Given the description of an element on the screen output the (x, y) to click on. 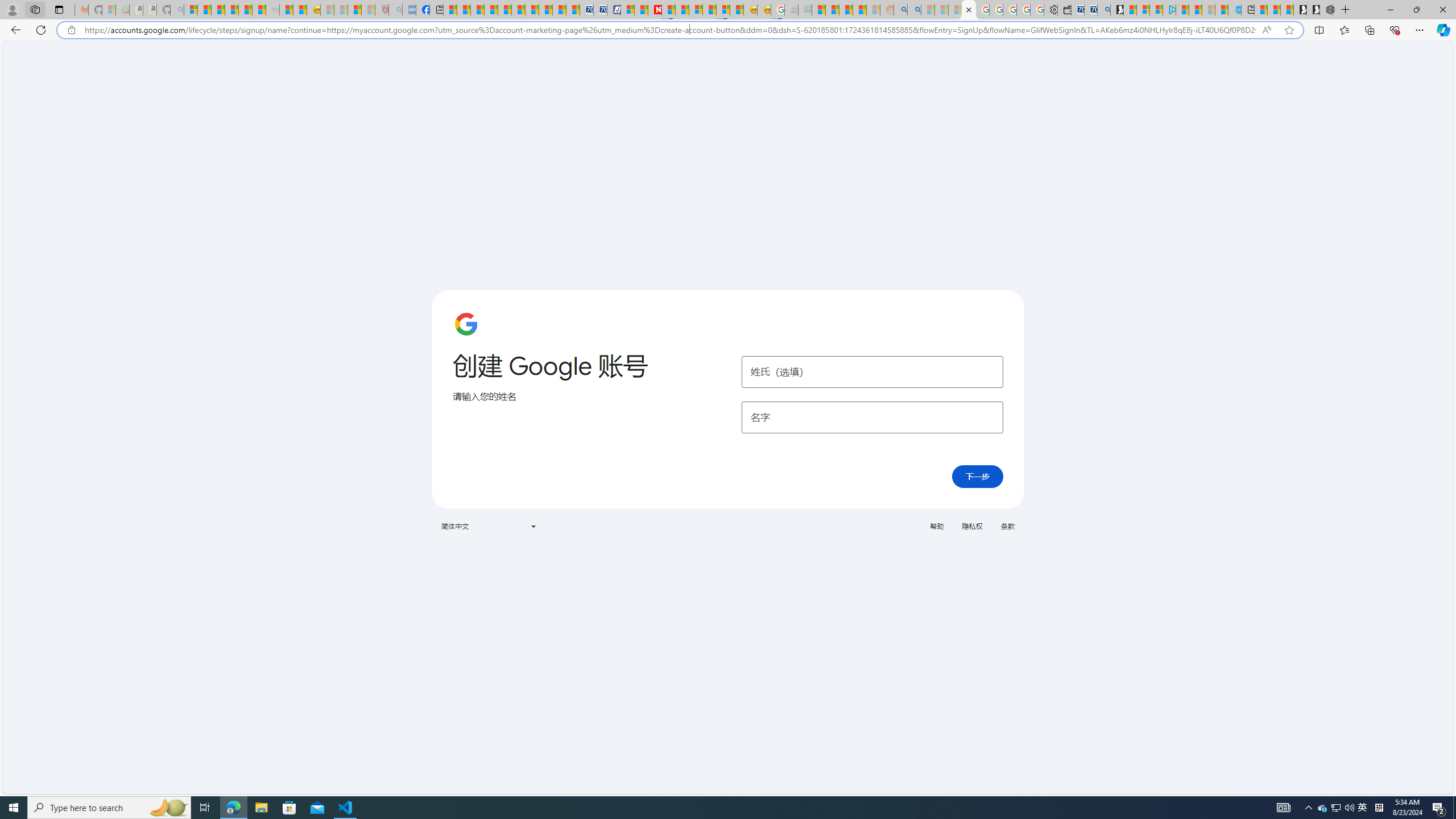
Cheap Car Rentals - Save70.com (1090, 9)
DITOGAMES AG Imprint - Sleeping (804, 9)
